Given the description of an element on the screen output the (x, y) to click on. 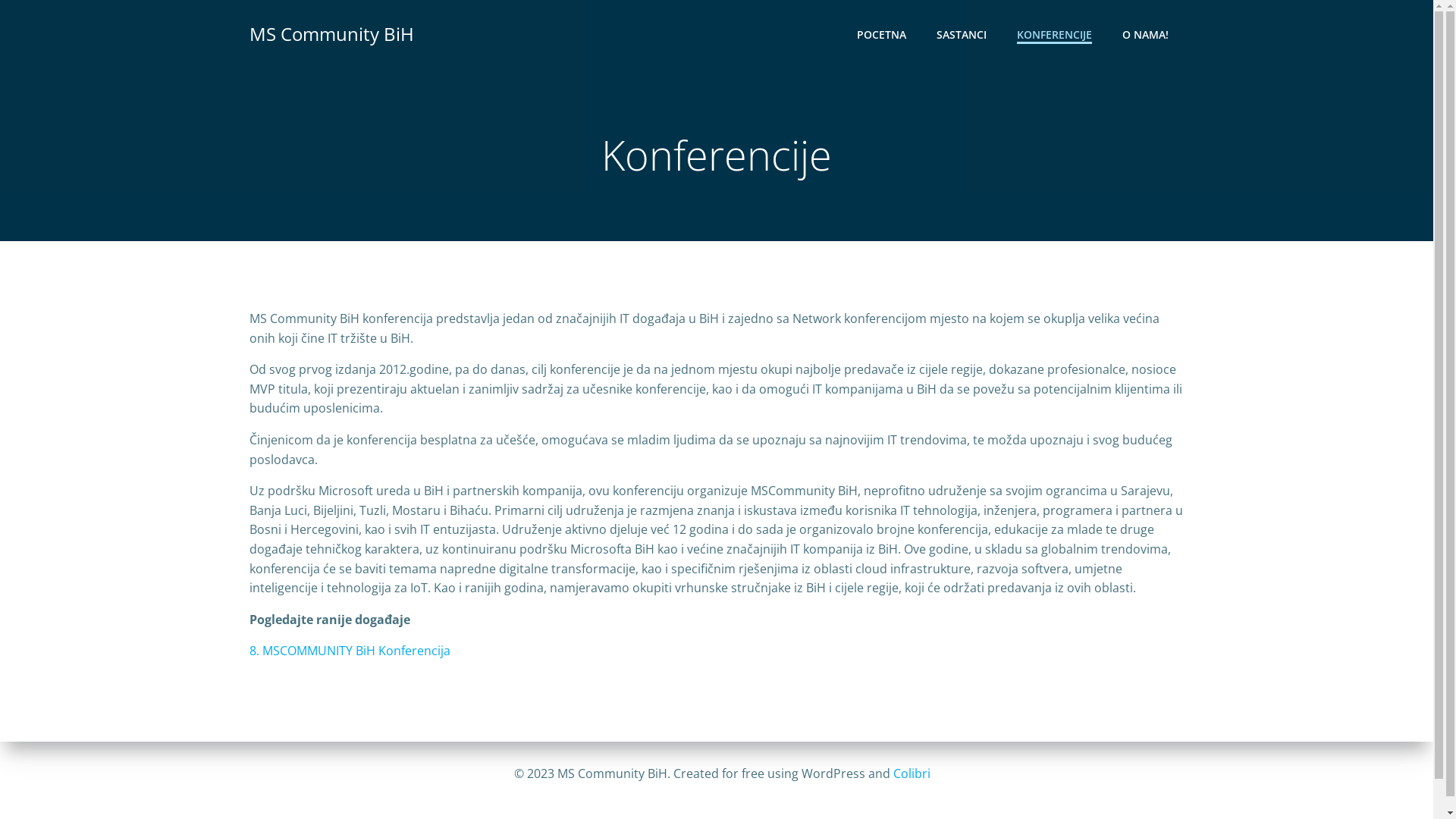
O NAMA! Element type: text (1145, 33)
POCETNA Element type: text (881, 33)
MS Community BiH Element type: text (331, 33)
8. MSCOMMUNITY BiH Konferencija Element type: text (349, 650)
KONFERENCIJE Element type: text (1054, 33)
Colibri Element type: text (911, 773)
SASTANCI Element type: text (961, 33)
